Given the description of an element on the screen output the (x, y) to click on. 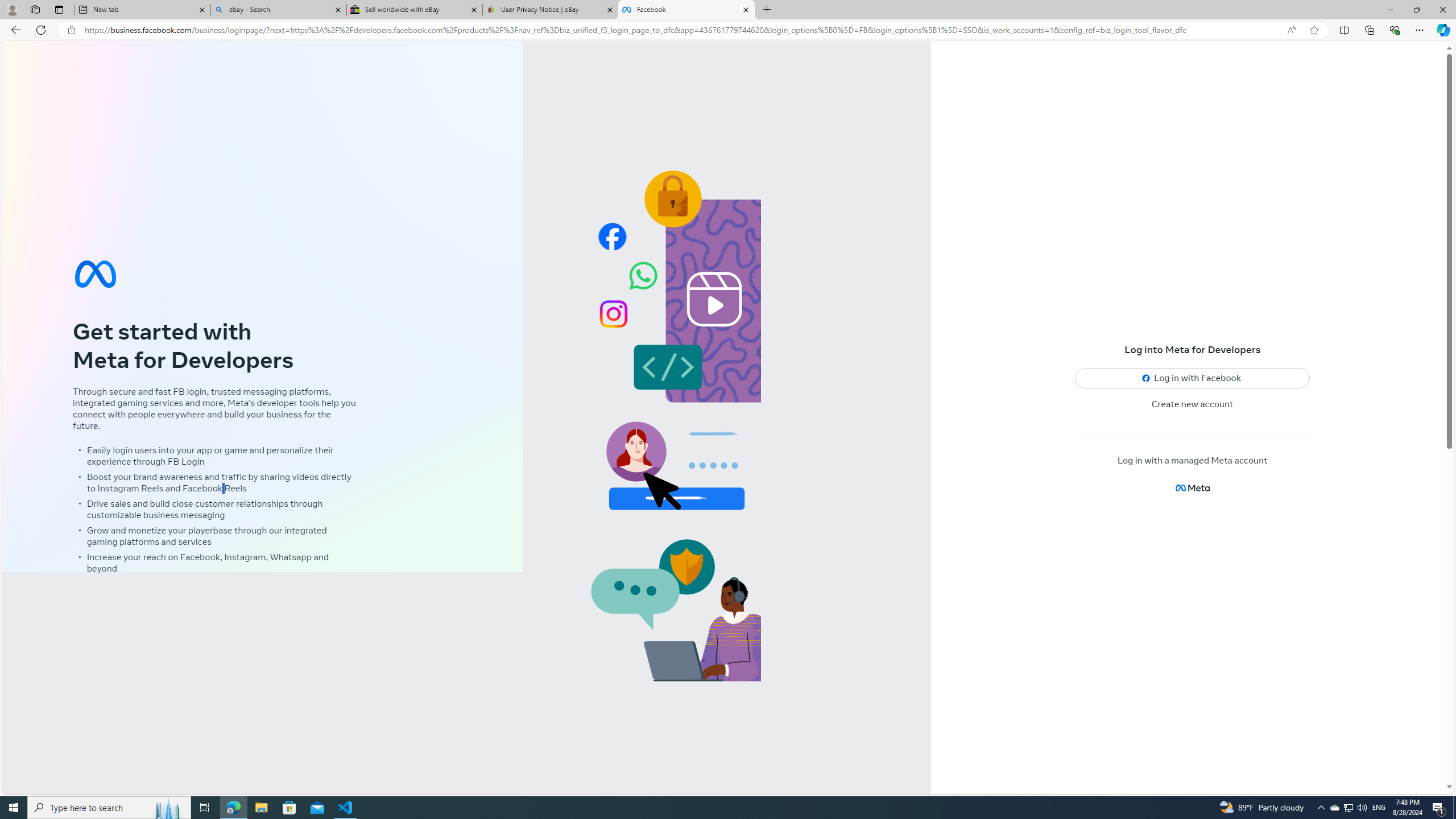
Facebook (685, 9)
Log in with Facebook (1192, 378)
Log in with a managed Meta account (1192, 460)
Sell worldwide with eBay (414, 9)
